Given the description of an element on the screen output the (x, y) to click on. 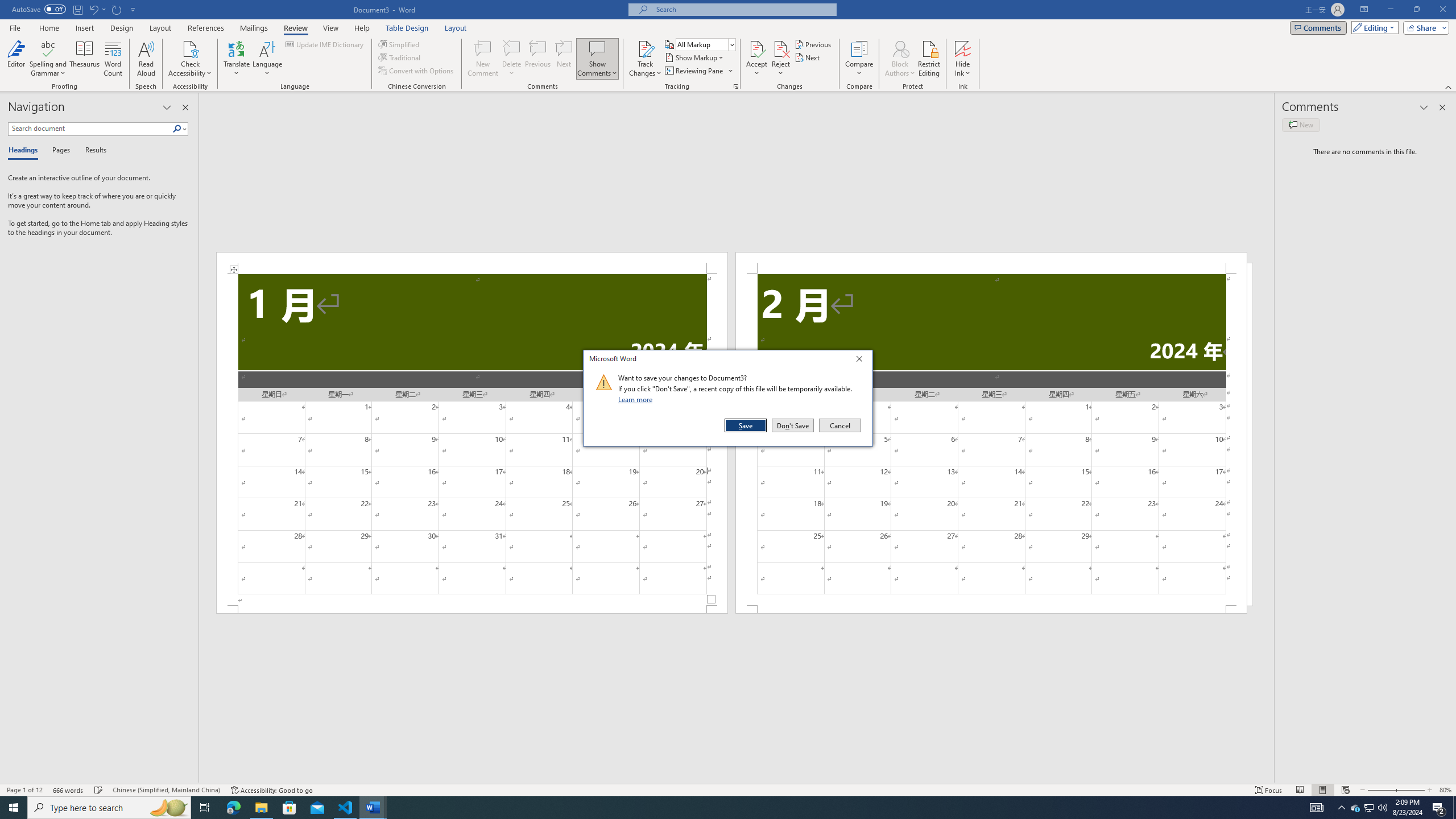
Type here to search (108, 807)
Traditional (400, 56)
Language Chinese (Simplified, Mainland China) (165, 790)
Accept (756, 58)
